Given the description of an element on the screen output the (x, y) to click on. 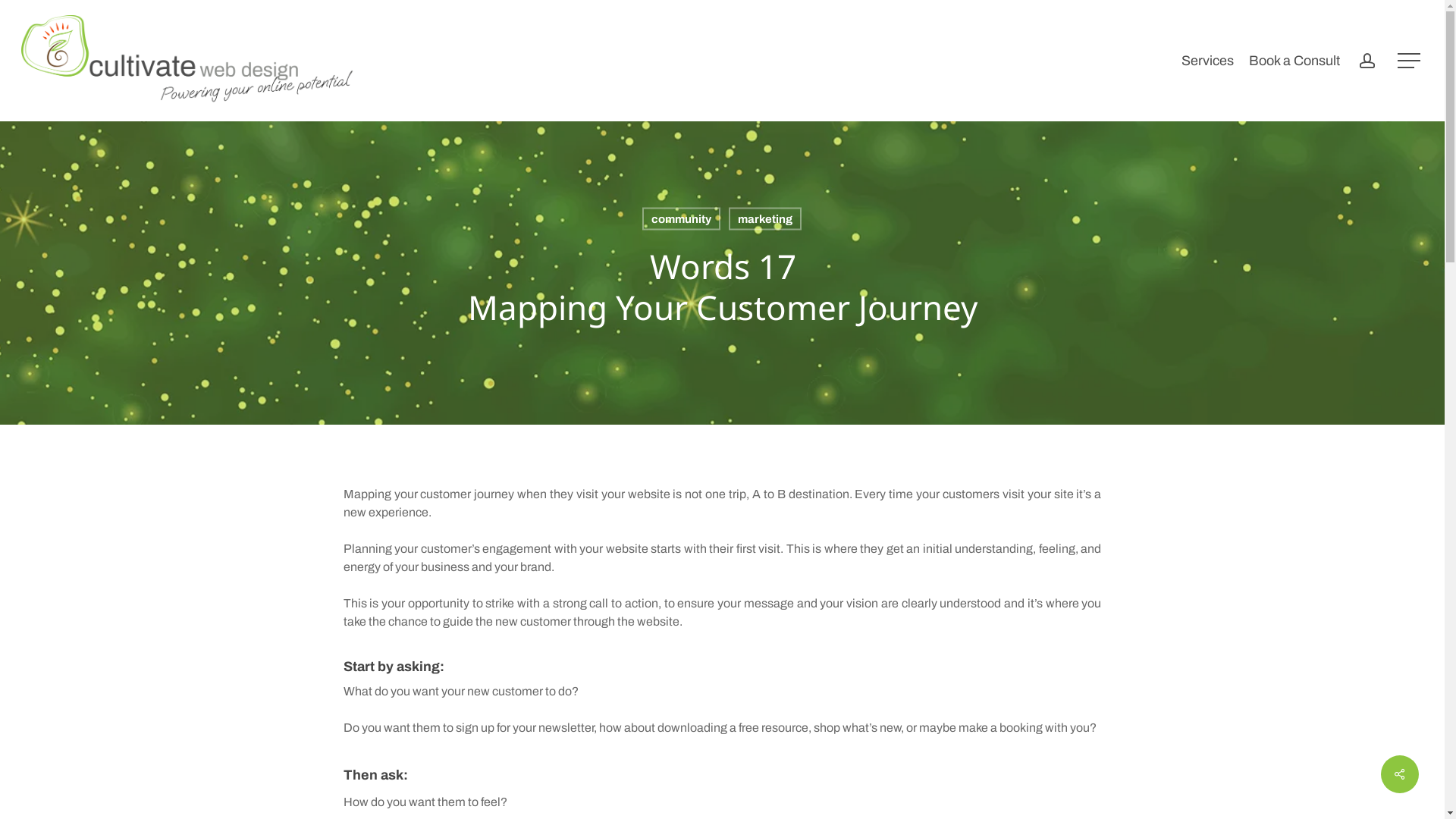
Menu Element type: text (1410, 61)
Menu Element type: text (1410, 7)
account Element type: text (1367, 61)
Services Element type: text (1207, 60)
community Element type: text (681, 218)
Book a Consult Element type: text (1293, 60)
marketing Element type: text (764, 218)
